Given the description of an element on the screen output the (x, y) to click on. 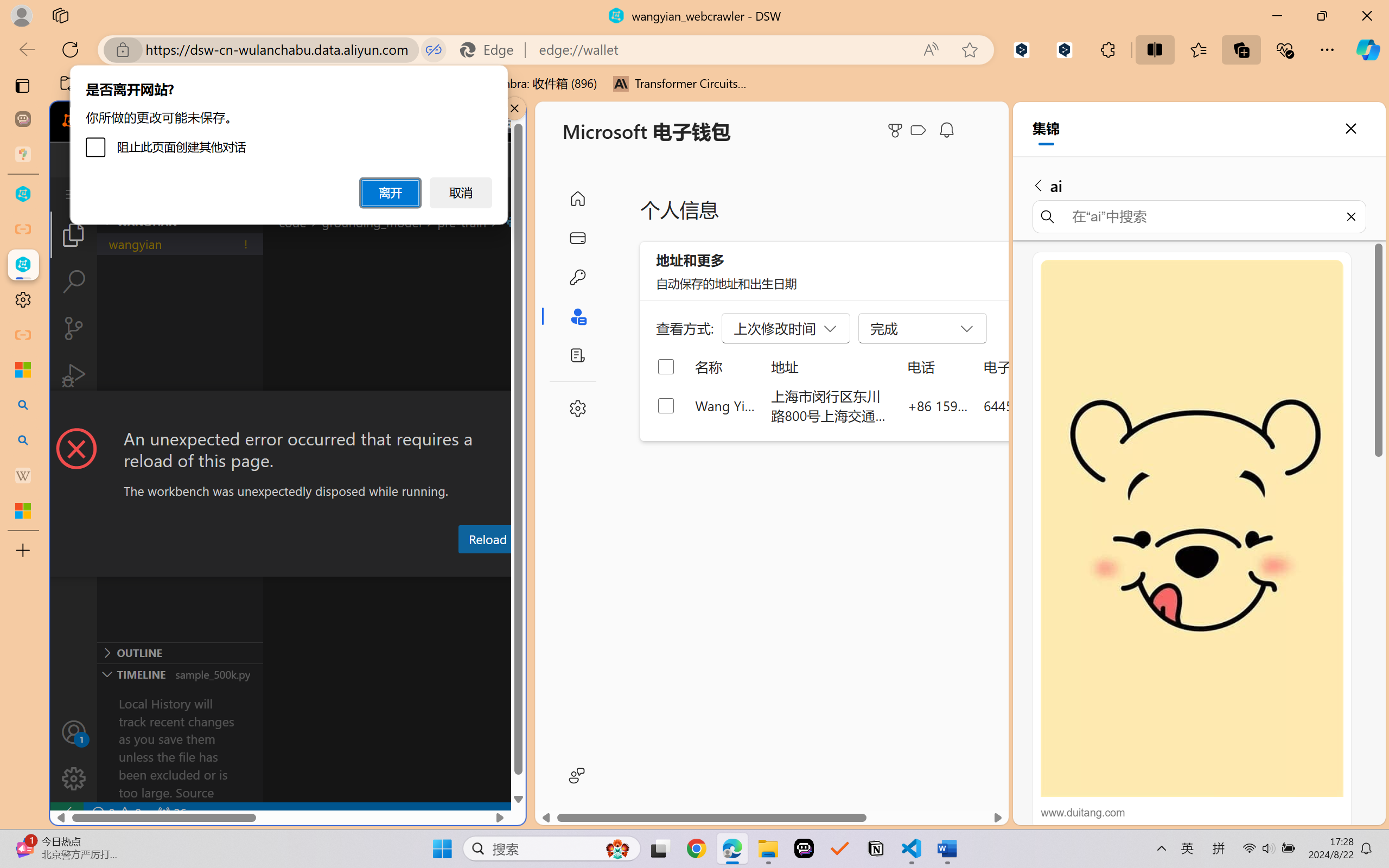
Terminal (Ctrl+`) (553, 565)
Microsoft Cashback (920, 130)
644553698@qq.com (1043, 405)
